Given the description of an element on the screen output the (x, y) to click on. 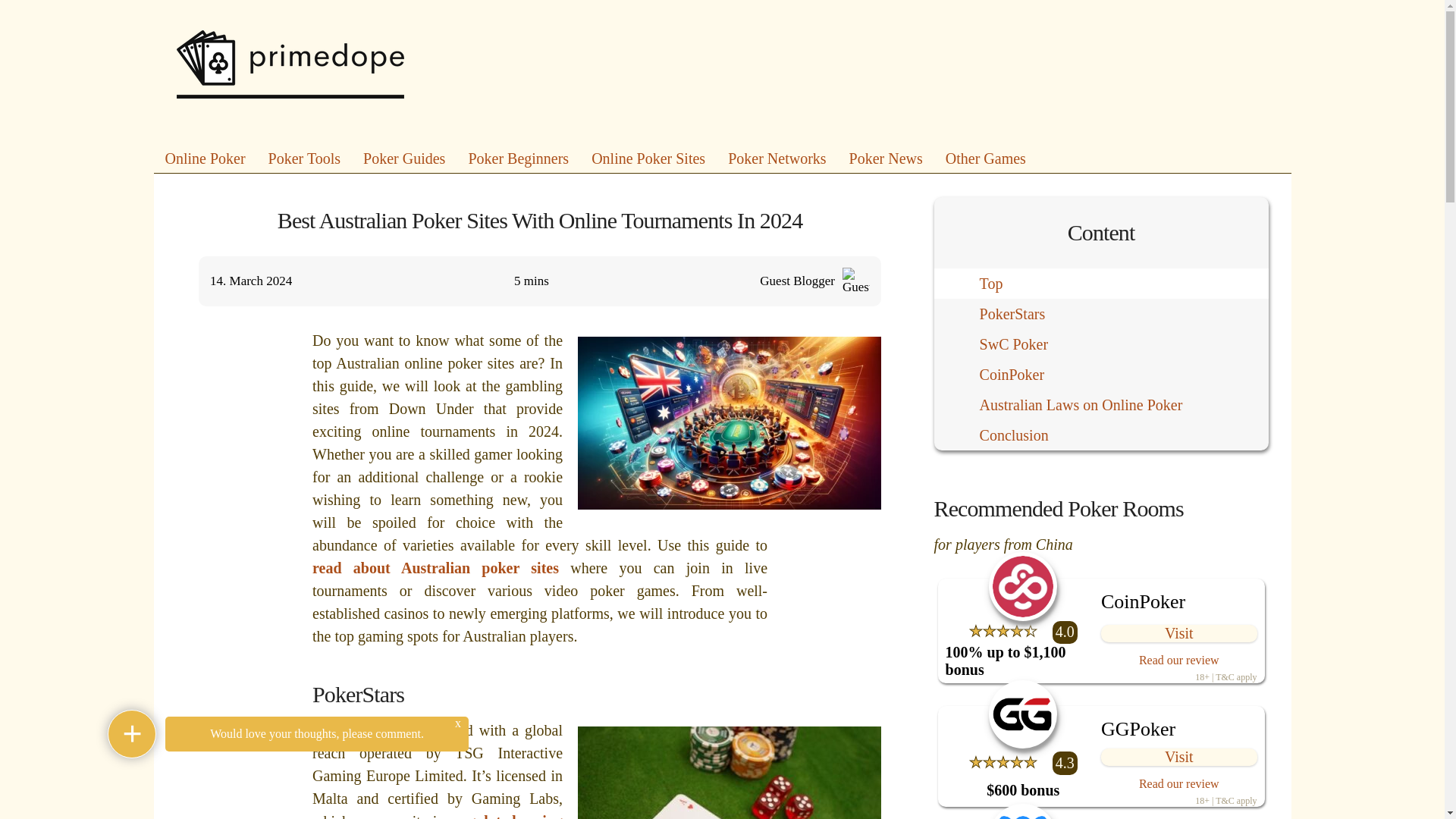
Poker Beginners (518, 158)
Online Poker Sites (647, 158)
Poker Guides (403, 158)
14. March 2024 (302, 280)
Poker Tools (303, 158)
Online Poker (205, 158)
